Given the description of an element on the screen output the (x, y) to click on. 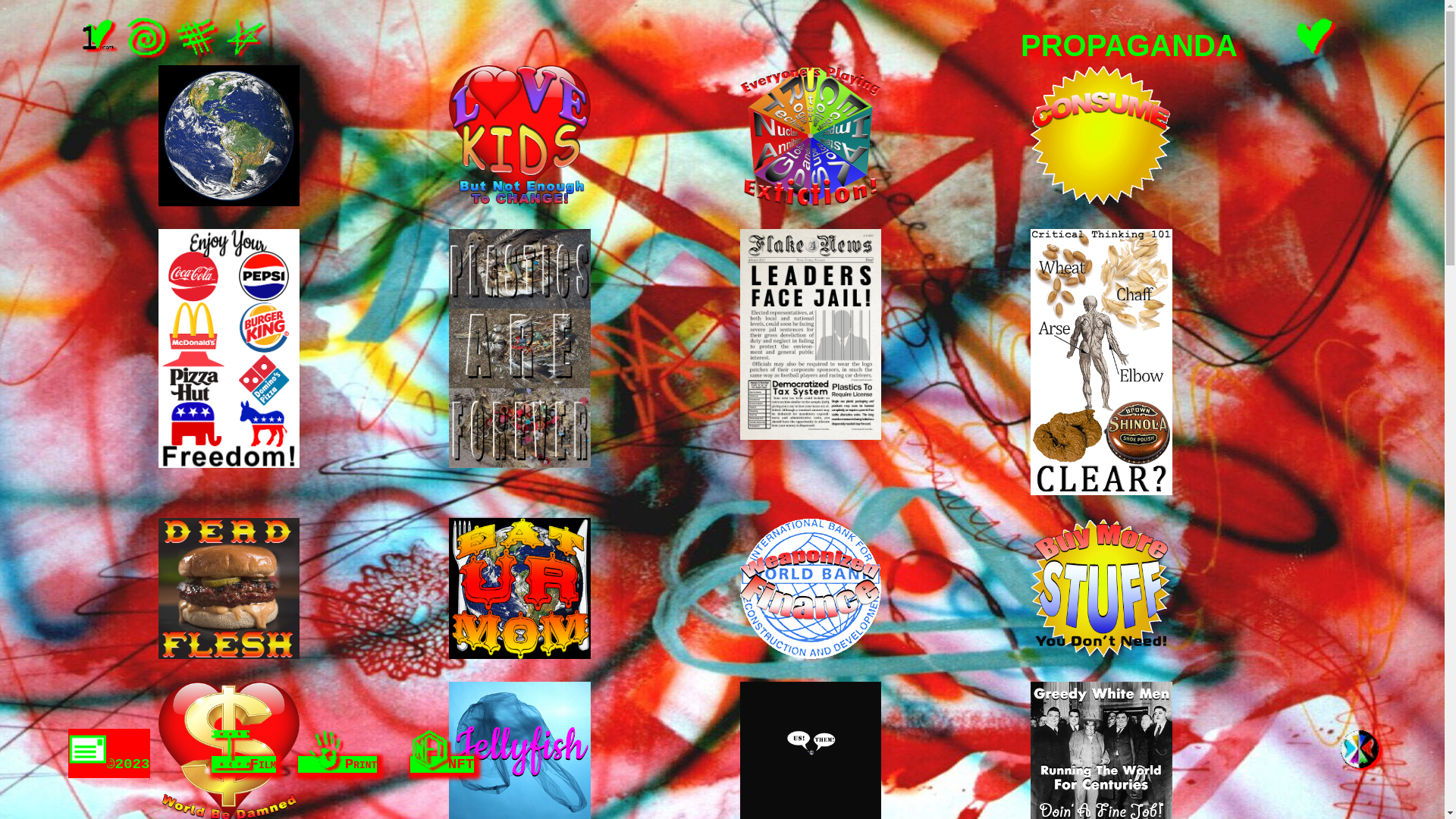
Buy More Element type: hover (1100, 587)
Film Element type: text (243, 753)
Clear? Element type: hover (1100, 361)
Art Print Element type: hover (326, 749)
propaganda Element type: text (1128, 40)
Conform Element type: hover (1100, 135)
Film Element type: hover (146, 37)
Freedom! Element type: hover (228, 348)
Print Element type: text (337, 753)
Consume Element type: hover (228, 135)
Flake News Element type: hover (810, 333)
Art Element type: hover (243, 37)
Contact Element type: hover (87, 749)
sAb Element type: hover (1359, 749)
Eat Ur Mom! Element type: hover (519, 587)
NFT Element type: text (442, 753)
Film Element type: hover (230, 749)
NFT Element type: hover (429, 749)
PROPAGANDA Element type: hover (194, 37)
Weaponised Finace Element type: hover (810, 587)
Extinction Element type: hover (810, 135)
HOME Element type: hover (97, 37)
Dead Flesh Element type: hover (228, 587)
Love Kids Element type: hover (519, 135)
Plastics Element type: hover (519, 348)
